Given the description of an element on the screen output the (x, y) to click on. 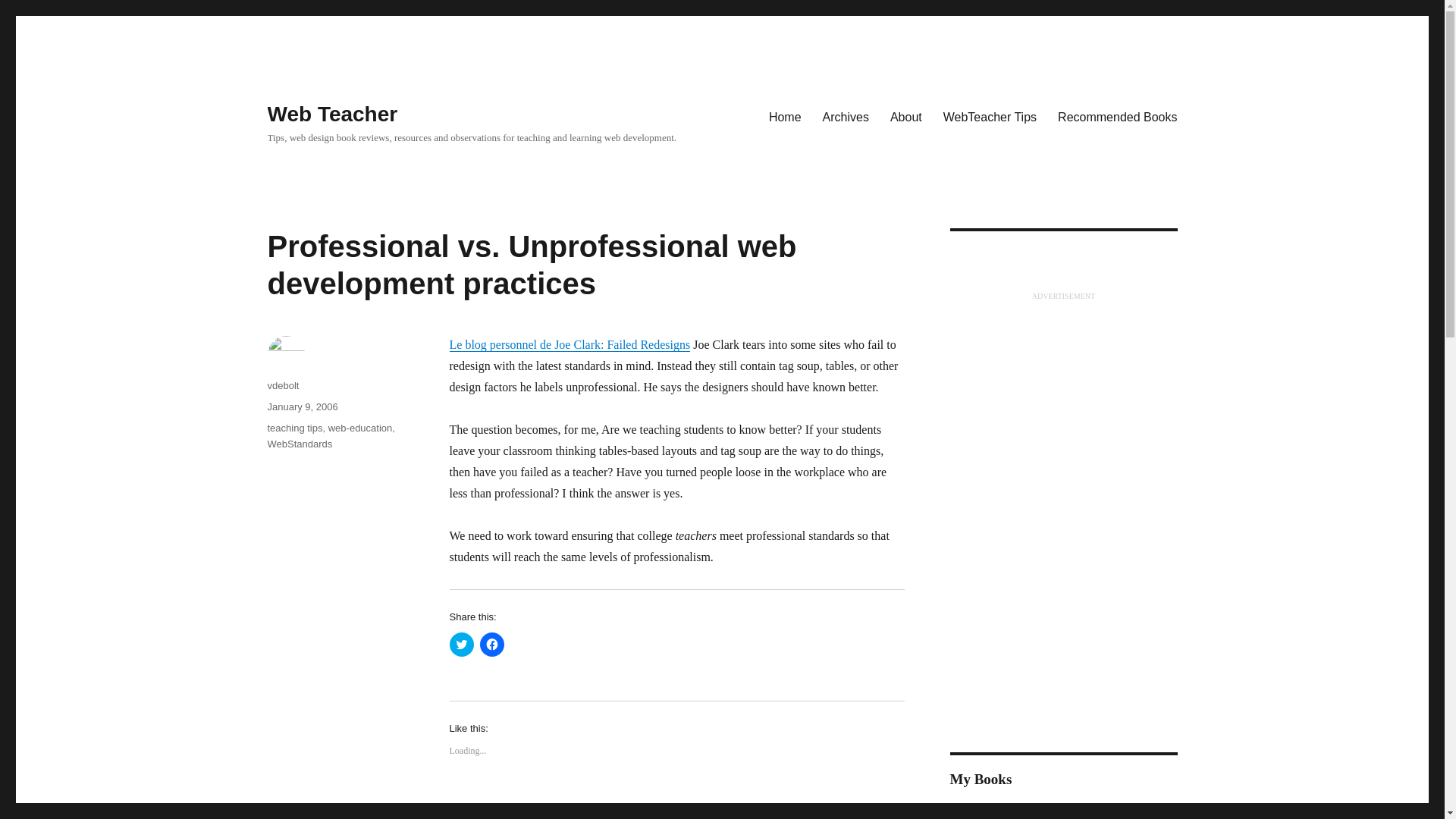
WebTeacher Tips (989, 116)
teaching tips (293, 428)
Archives (845, 116)
Le blog personnel de Joe Clark: Failed Redesigns (569, 344)
About (906, 116)
Web Teacher (331, 114)
WebStandards (298, 443)
Click to share on Facebook (491, 644)
vdebolt (282, 385)
Click to share on Twitter (460, 644)
